Given the description of an element on the screen output the (x, y) to click on. 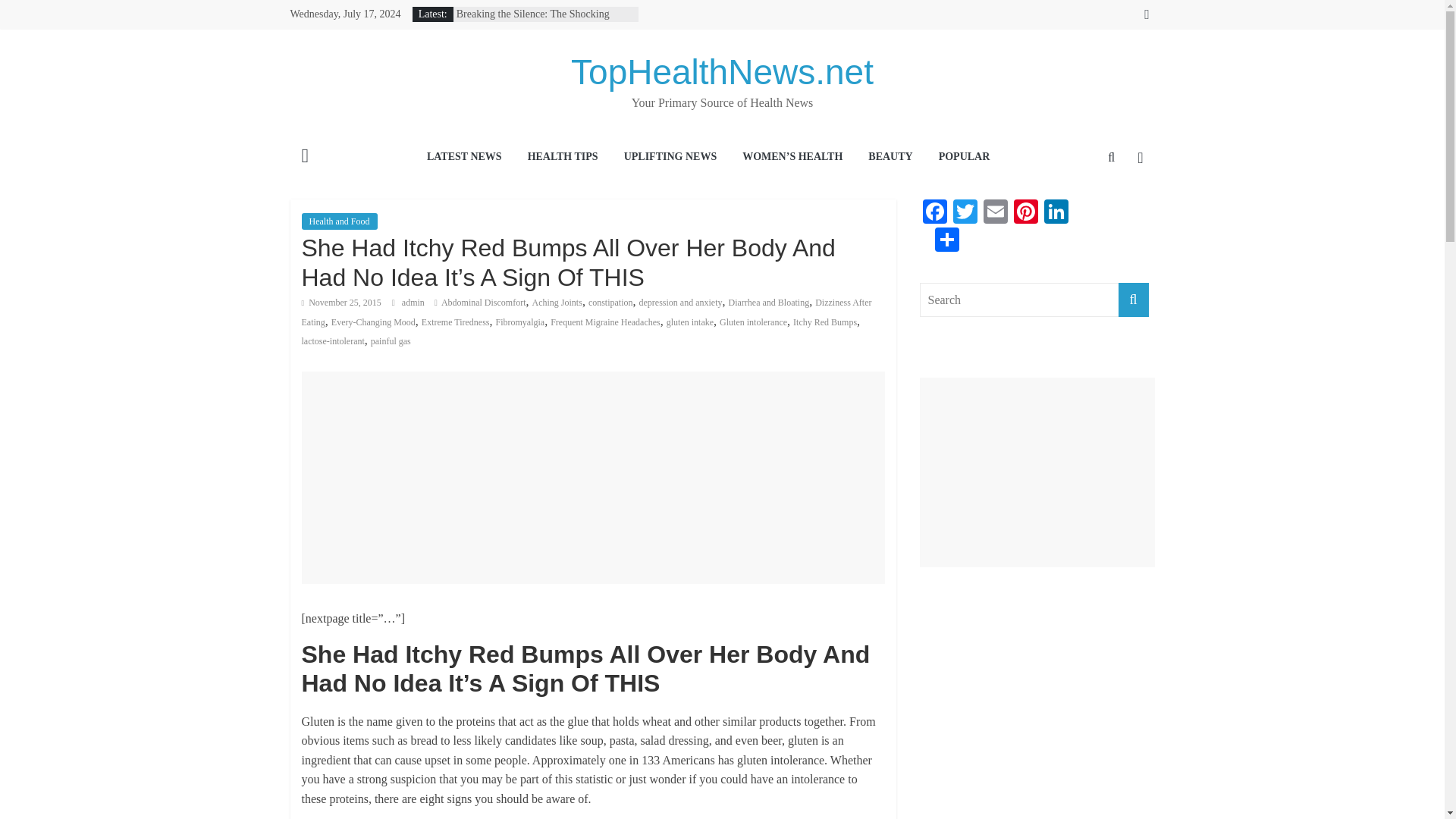
5:48 pm (341, 302)
Health and Food (339, 221)
HEALTH TIPS (562, 157)
November 25, 2015 (341, 302)
Diarrhea and Bloating (769, 302)
Frequent Migraine Headaches (605, 321)
Popular (964, 157)
Aching Joints (557, 302)
BEAUTY (889, 157)
Advertisement (593, 477)
constipation (610, 302)
admin (413, 302)
TopHealthNews.net (721, 71)
TopHealthNews.net (721, 71)
UPLIFTING NEWS (670, 157)
